Given the description of an element on the screen output the (x, y) to click on. 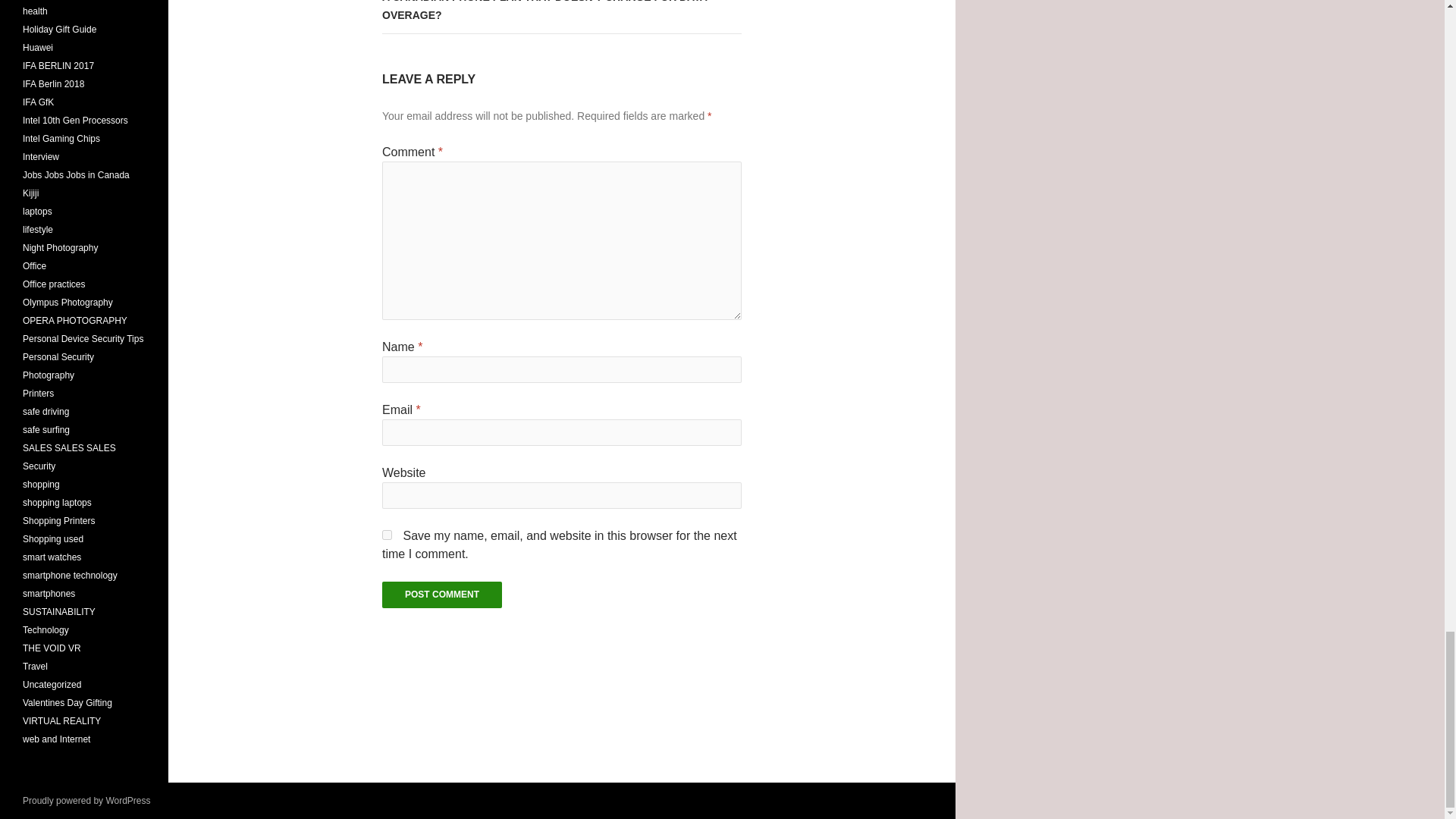
Post Comment (441, 594)
Post Comment (441, 594)
yes (386, 534)
